Given the description of an element on the screen output the (x, y) to click on. 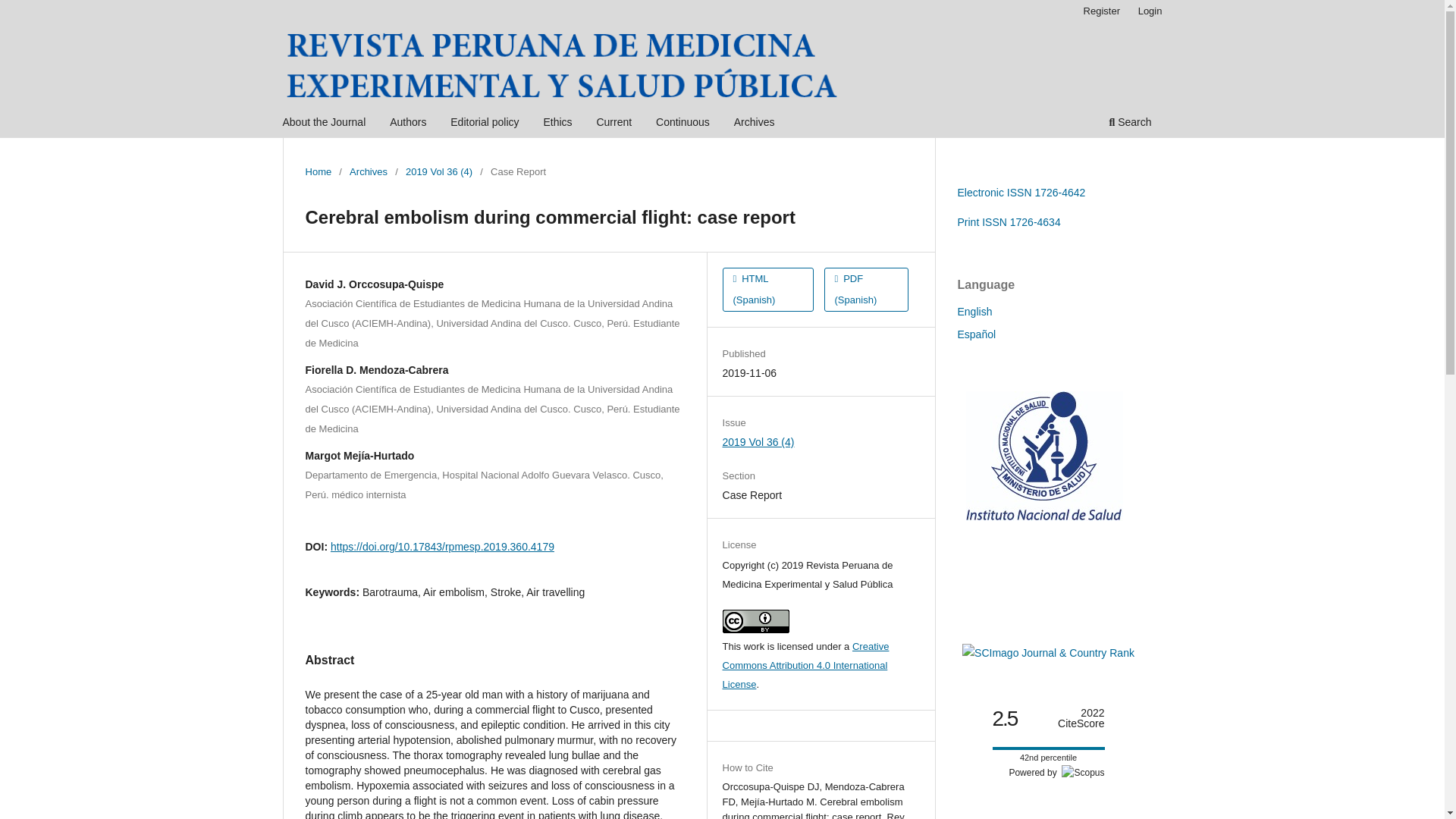
Ethics (556, 123)
Creative Commons Attribution 4.0 International License (805, 665)
Authors (407, 123)
Editorial policy (484, 123)
Current (614, 123)
About the Journal (324, 123)
Continuous (682, 123)
Archives (368, 171)
Login (1150, 11)
Search (1129, 123)
